Given the description of an element on the screen output the (x, y) to click on. 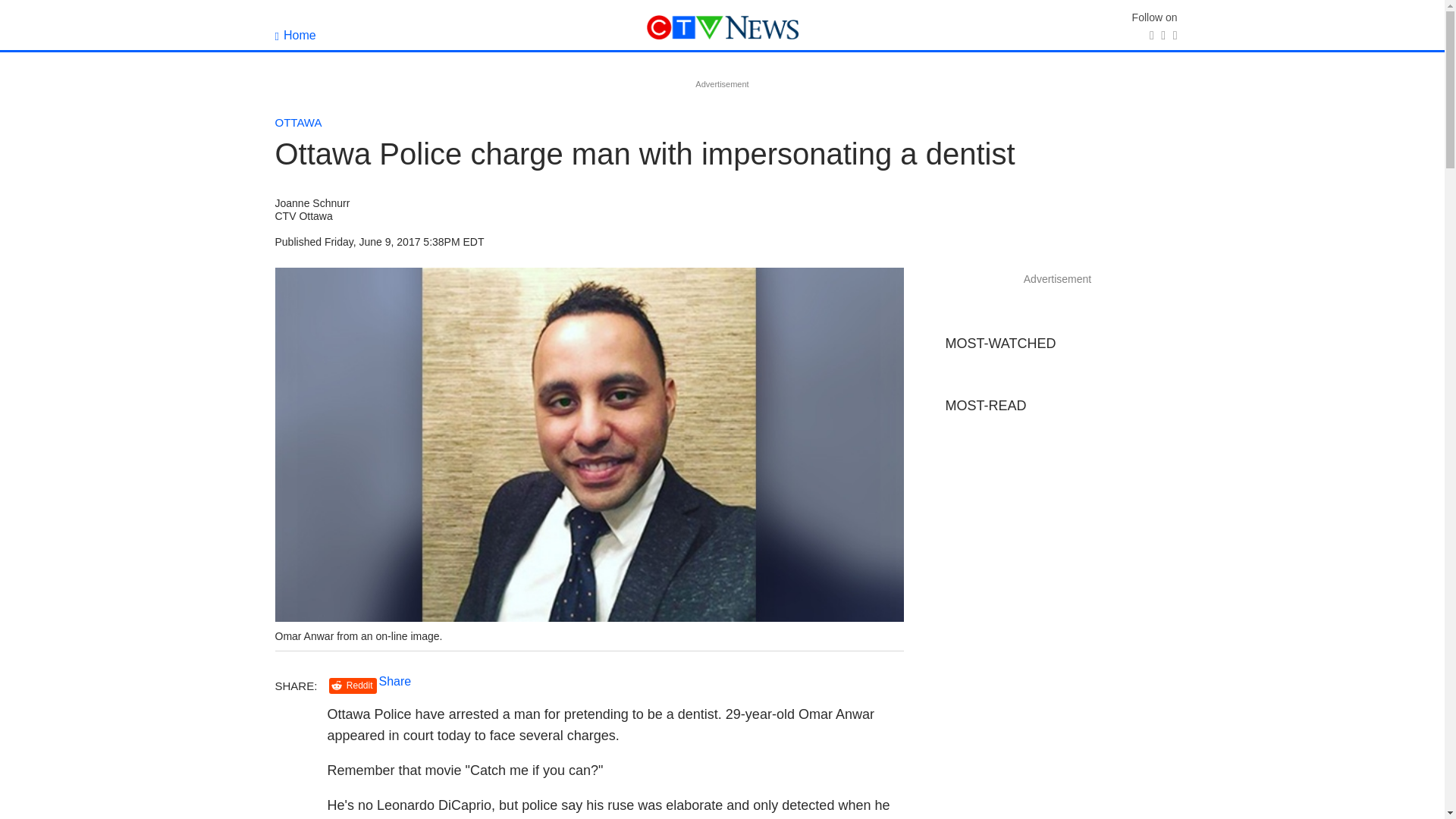
Share (395, 680)
OTTAWA (298, 122)
Home (295, 34)
Reddit (353, 685)
